Given the description of an element on the screen output the (x, y) to click on. 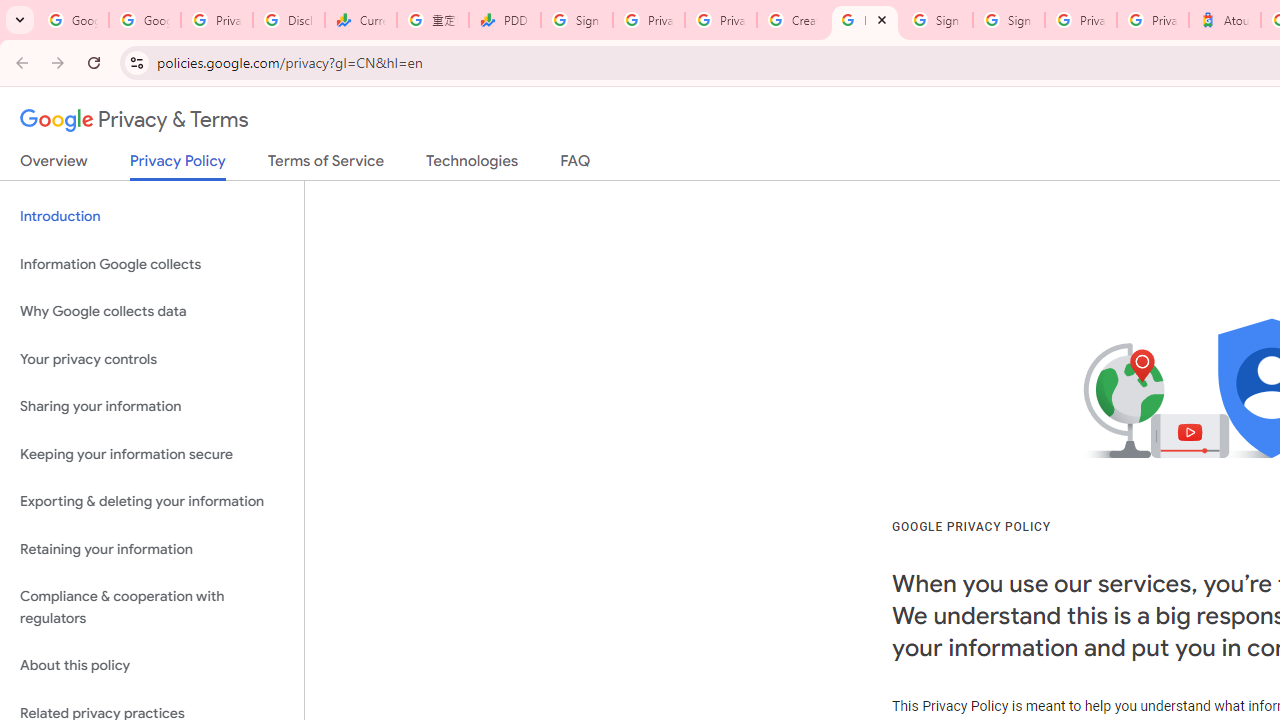
Create your Google Account (792, 20)
Google Workspace Admin Community (72, 20)
Sign in - Google Accounts (1008, 20)
